Given the description of an element on the screen output the (x, y) to click on. 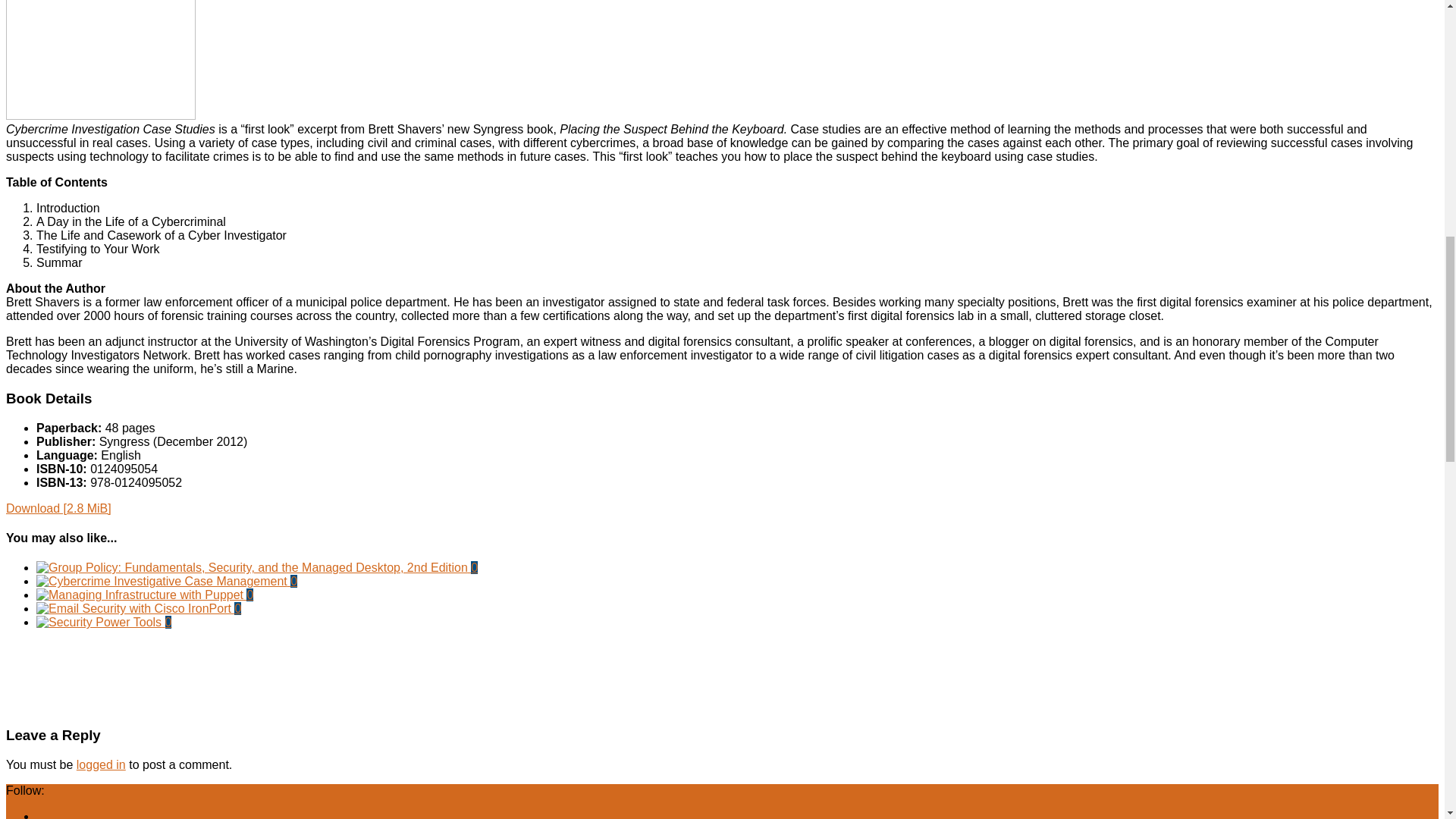
Managing Infrastructure with Puppet (141, 594)
Security Power Tools (100, 621)
Cybercrime Investigative Case Management (162, 581)
Email Security with Cisco IronPort (135, 608)
